Given the description of an element on the screen output the (x, y) to click on. 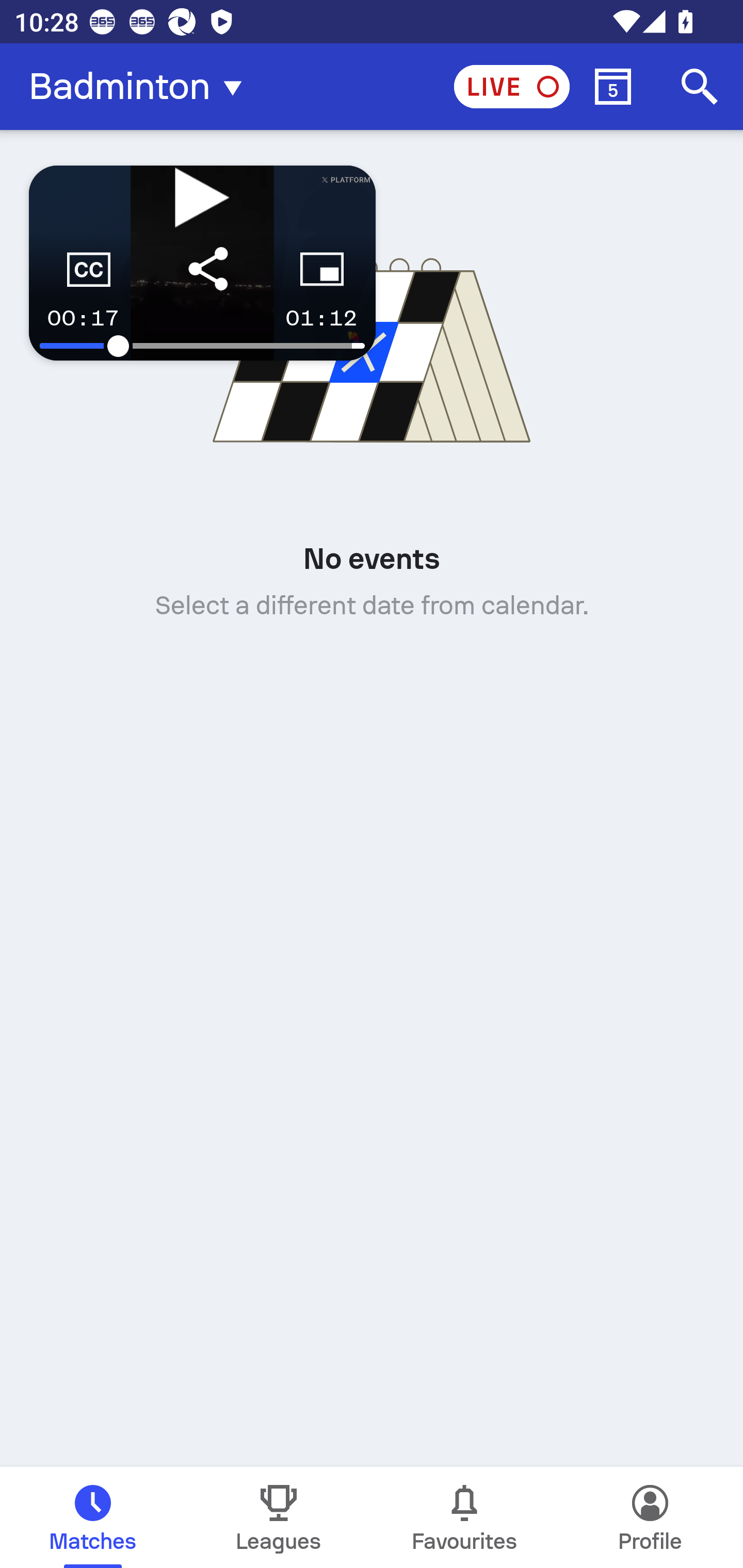
Badminton (141, 86)
Calendar (612, 86)
Search (699, 86)
No events Select a different date from calendar. (371, 418)
Leagues (278, 1517)
Favourites (464, 1517)
Profile (650, 1517)
